Given the description of an element on the screen output the (x, y) to click on. 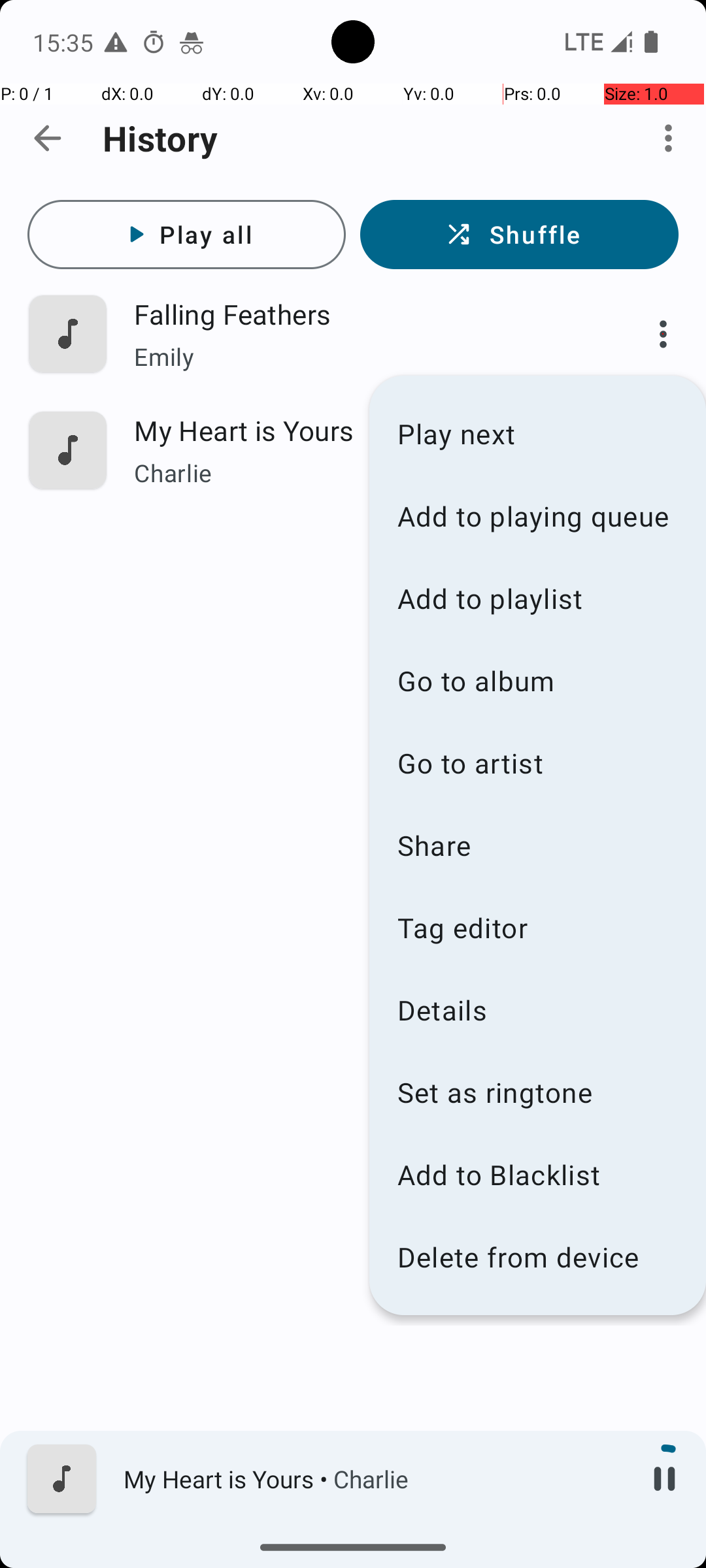
Play next Element type: android.widget.TextView (537, 433)
Add to playing queue Element type: android.widget.TextView (537, 515)
Add to playlist Element type: android.widget.TextView (537, 597)
Go to album Element type: android.widget.TextView (537, 680)
Go to artist Element type: android.widget.TextView (537, 762)
Tag editor Element type: android.widget.TextView (537, 927)
Details Element type: android.widget.TextView (537, 1009)
Set as ringtone Element type: android.widget.TextView (537, 1091)
Add to Blacklist Element type: android.widget.TextView (537, 1173)
Delete from device Element type: android.widget.TextView (537, 1256)
